Given the description of an element on the screen output the (x, y) to click on. 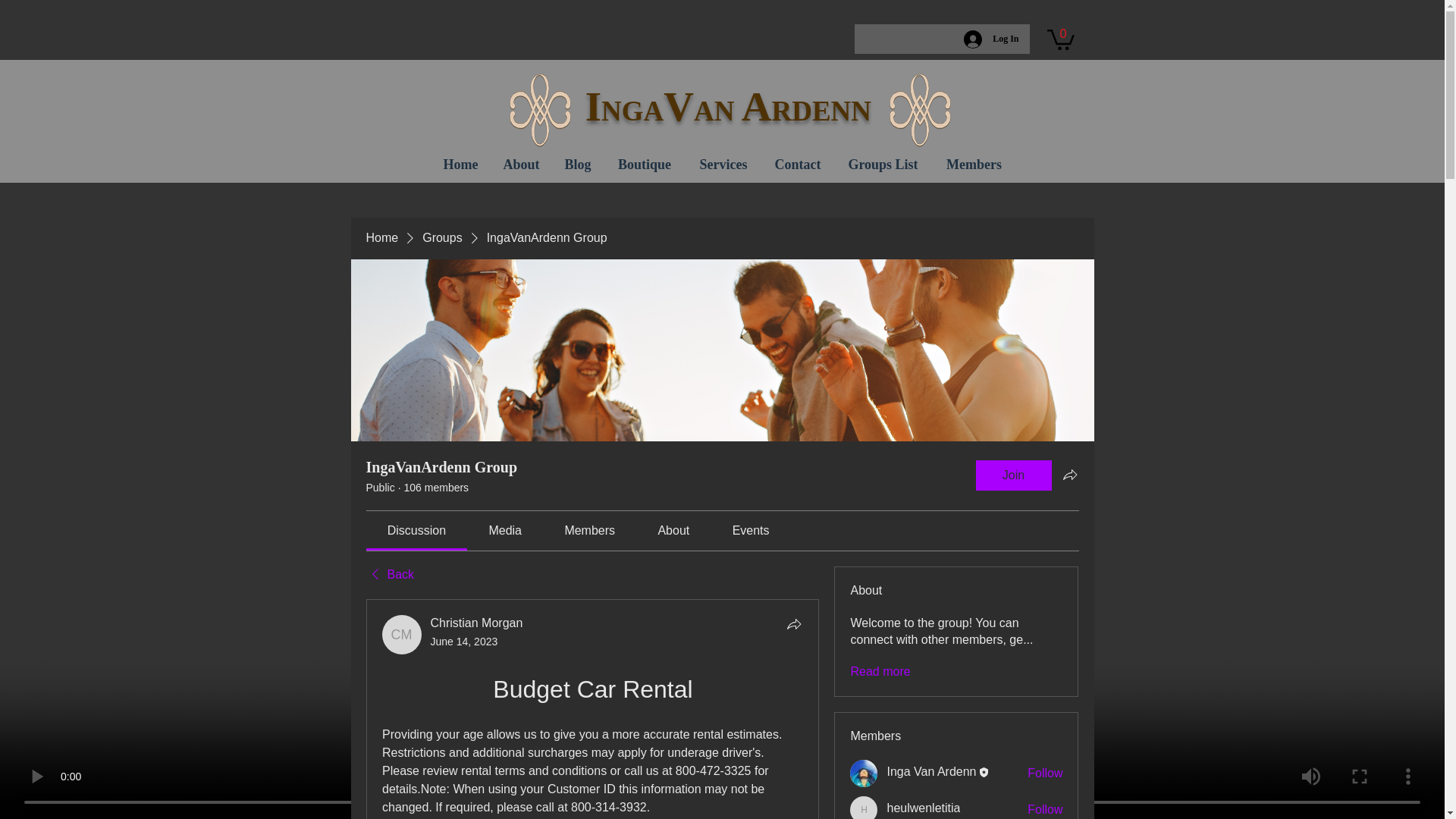
Follow (1044, 809)
heulwenletitia (863, 807)
Read more (880, 671)
Contact (796, 164)
Christian Morgan (401, 634)
Boutique (644, 164)
Back (389, 574)
Blog (577, 164)
 I (588, 106)
Inga Van Ardenn (863, 773)
0 (1060, 38)
RDENN (821, 110)
V (678, 106)
About (521, 164)
June 14, 2023 (463, 641)
